Given the description of an element on the screen output the (x, y) to click on. 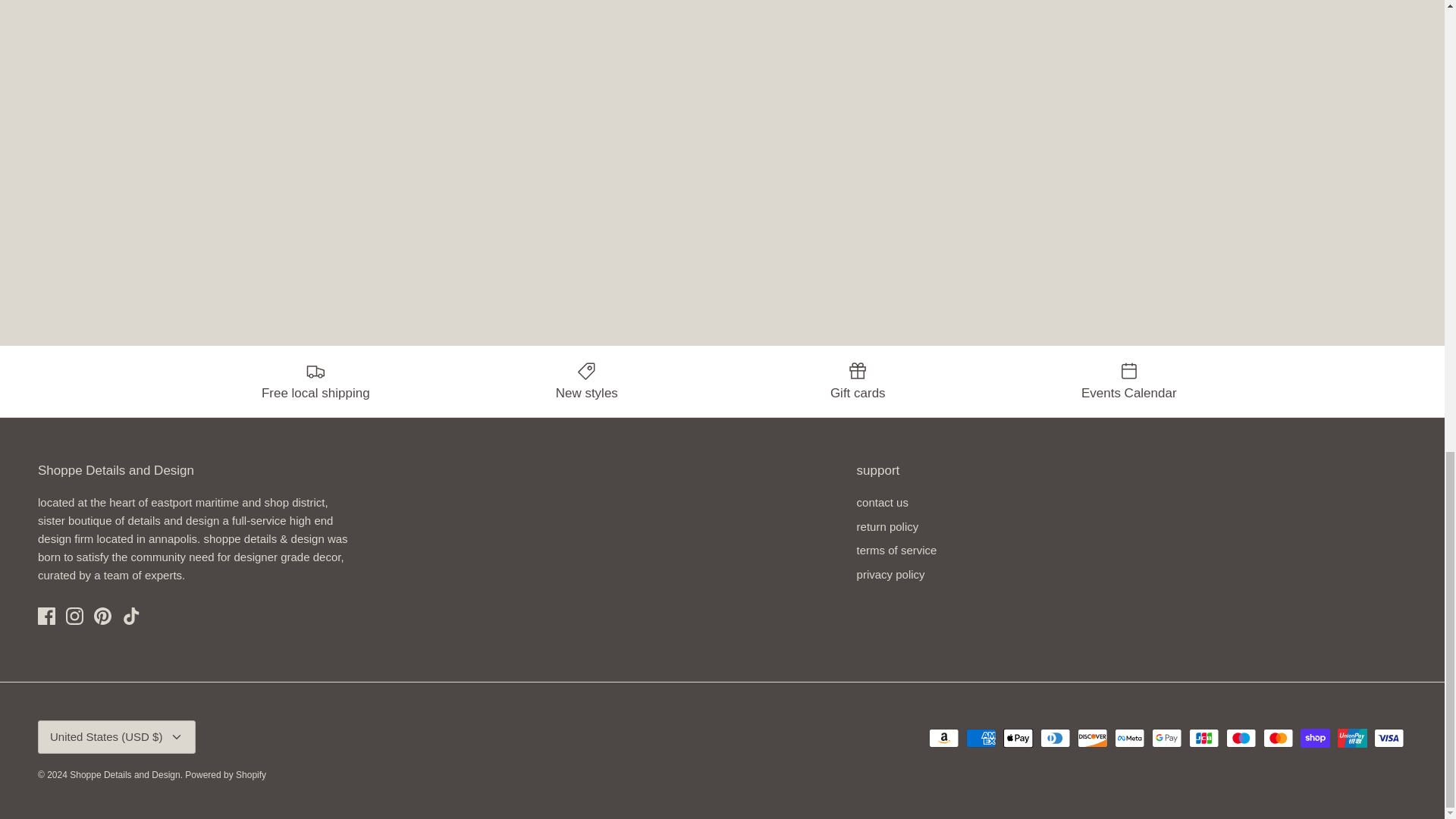
Instagram (73, 615)
Facebook (46, 615)
Pinterest (103, 615)
